Given the description of an element on the screen output the (x, y) to click on. 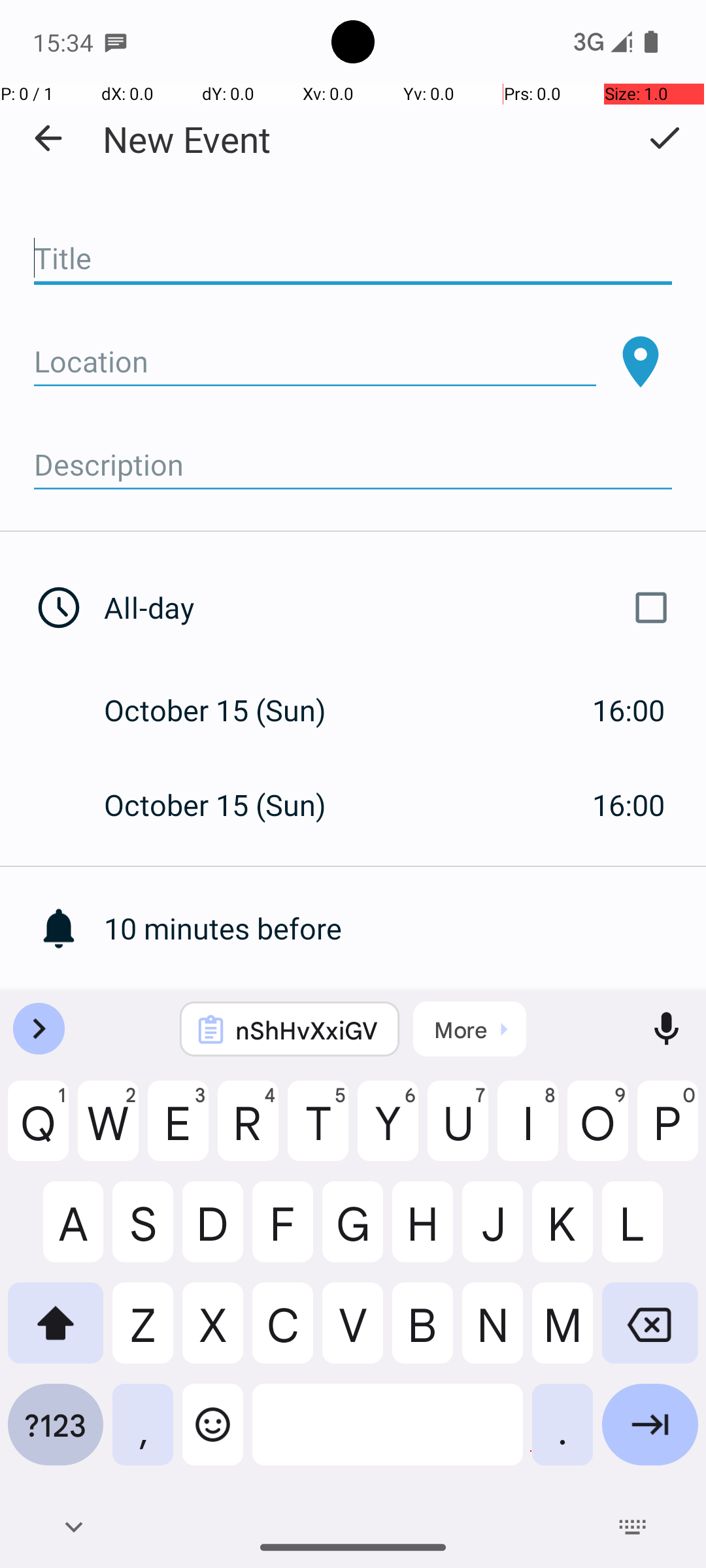
10 minutes before Element type: android.widget.TextView (404, 927)
Add another reminder Element type: android.widget.TextView (404, 1022)
nShHvXxiGV Element type: android.widget.TextView (306, 1029)
